Given the description of an element on the screen output the (x, y) to click on. 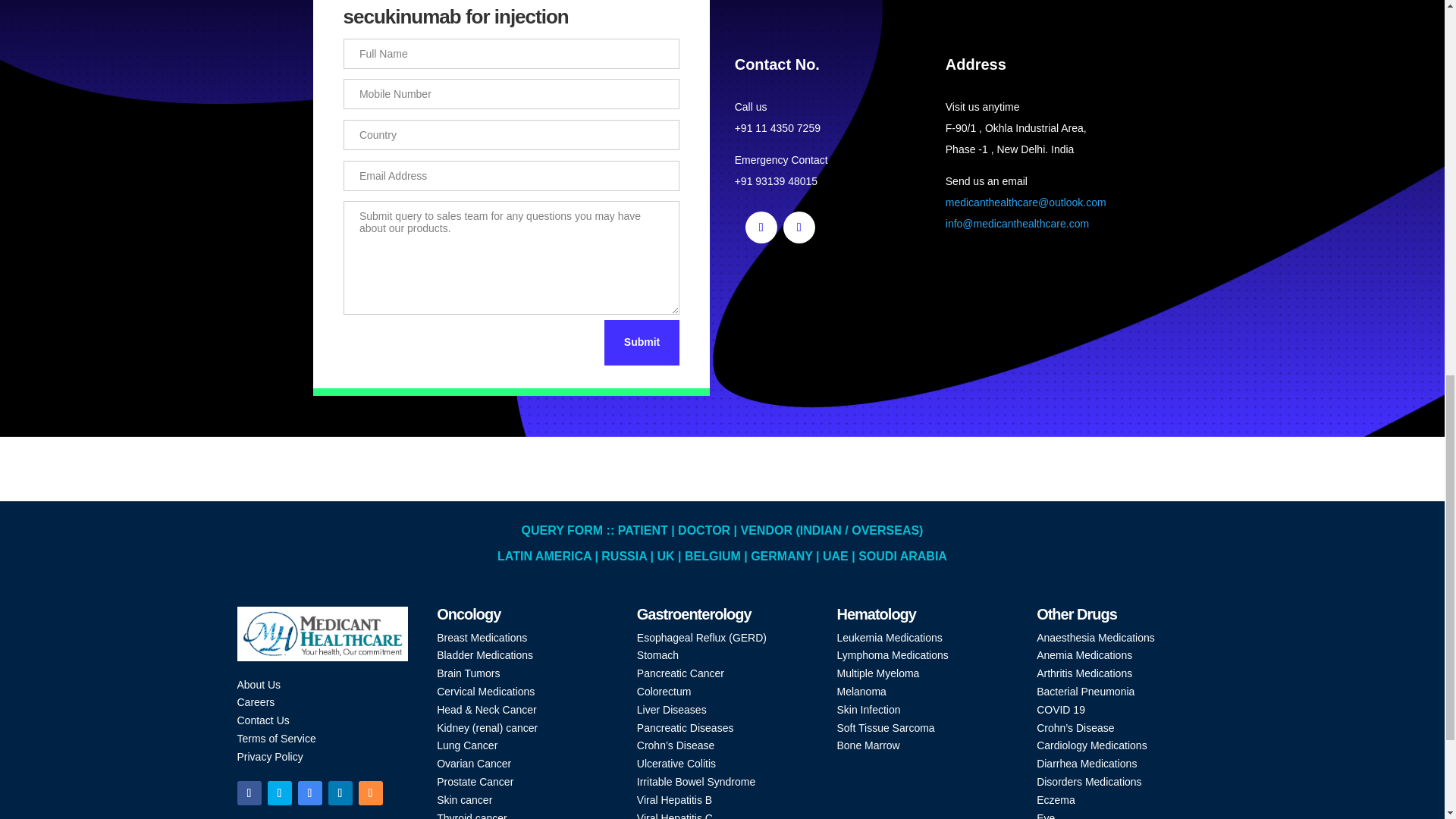
Follow on Facebook (761, 227)
medicant-logo-bo (321, 633)
Follow on LinkedIn (339, 793)
Follow on RSS (369, 793)
Follow on LinkedIn (799, 227)
Follow on Facebook (247, 793)
Follow on Google (309, 793)
Follow on Twitter (278, 793)
